Given the description of an element on the screen output the (x, y) to click on. 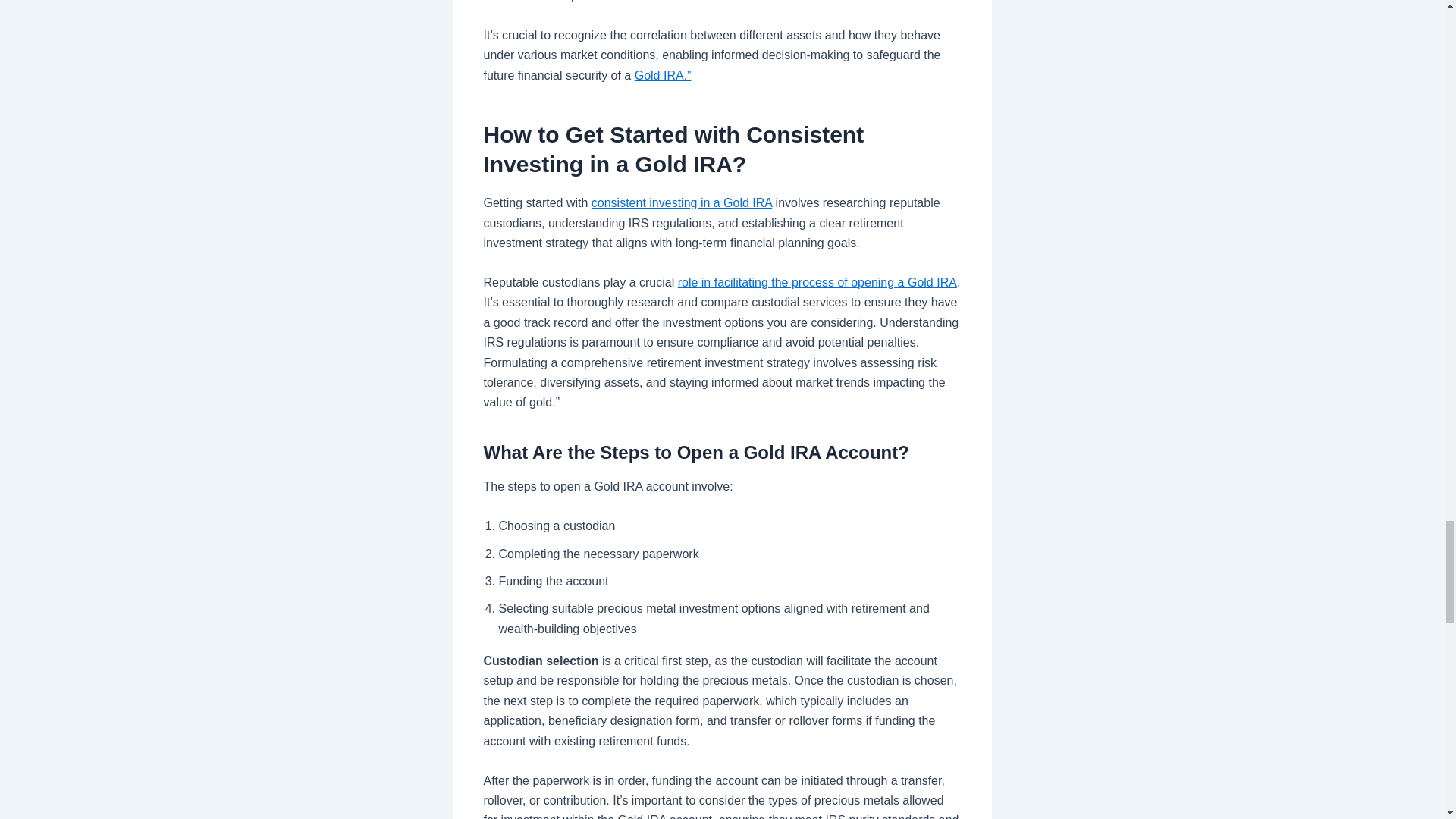
consistent investing in a Gold IRA (681, 202)
role in facilitating the process of opening a Gold IRA (817, 282)
